Given the description of an element on the screen output the (x, y) to click on. 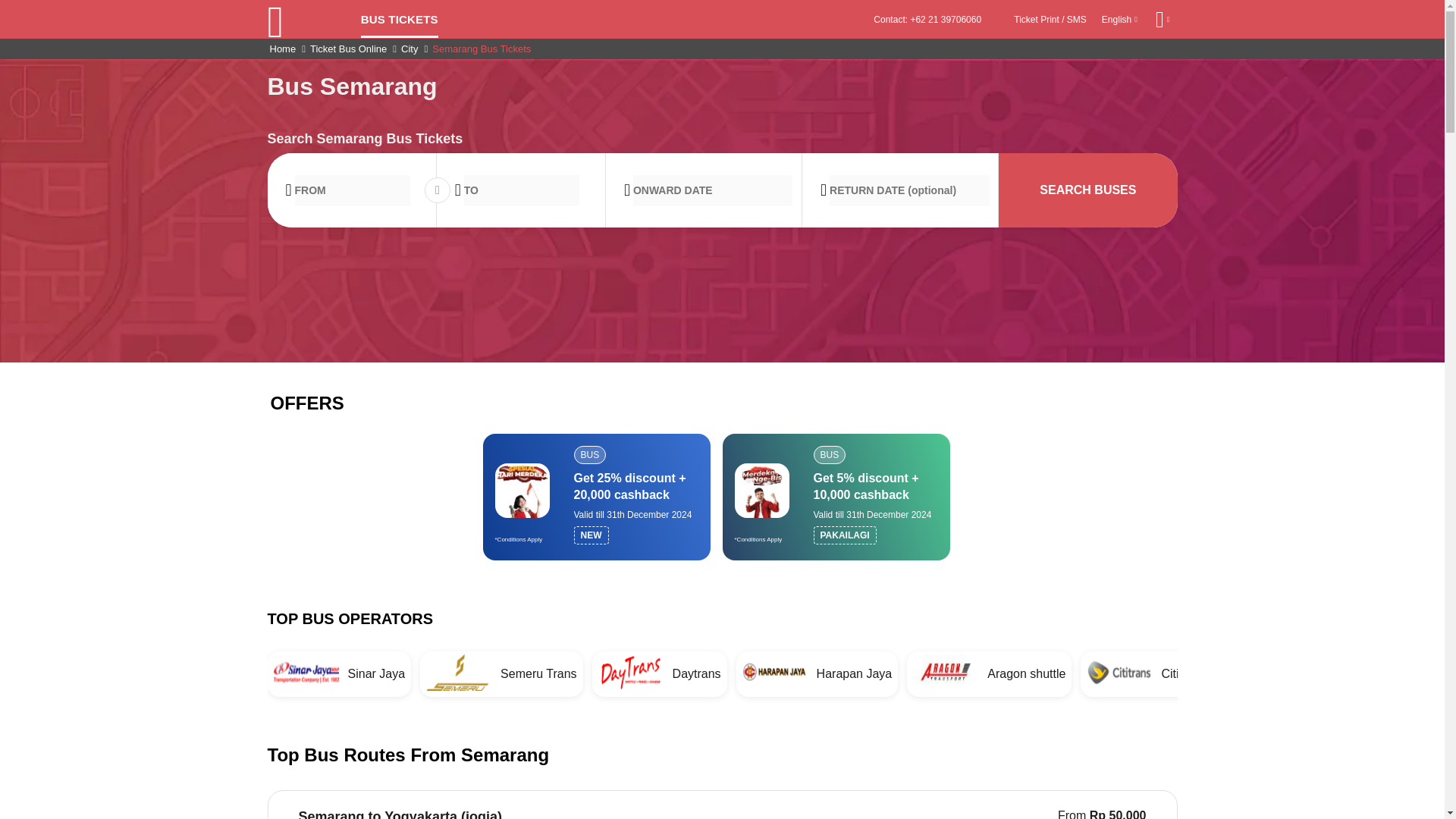
City (410, 48)
Daytrans (659, 673)
SEARCH BUSES (1087, 190)
Home (282, 48)
Sinar Jaya (338, 673)
Berlian Jaya (1297, 673)
Cititrans (1145, 673)
Semeru Trans (501, 673)
Ticket Bus Online (348, 48)
Aragon shuttle (989, 673)
